Given the description of an element on the screen output the (x, y) to click on. 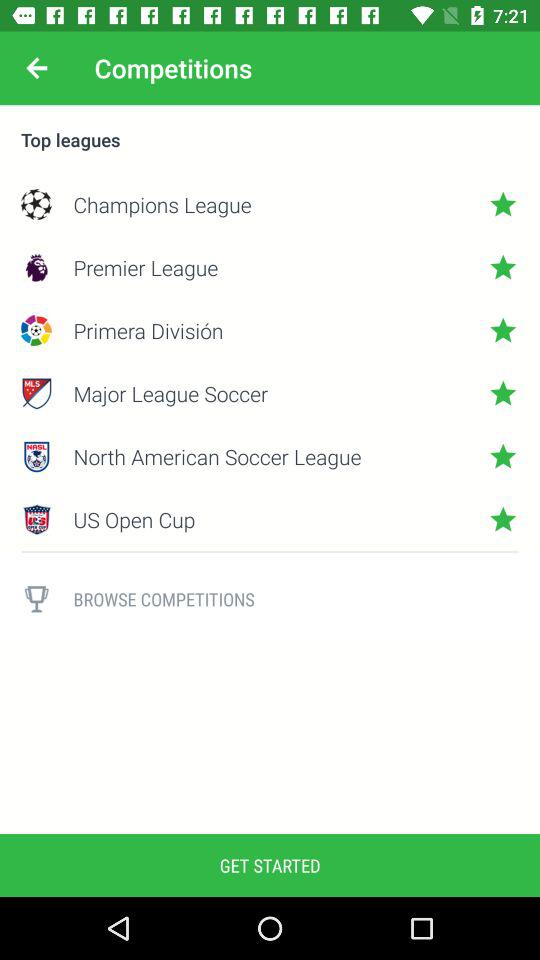
choose the us open cup item (269, 519)
